Given the description of an element on the screen output the (x, y) to click on. 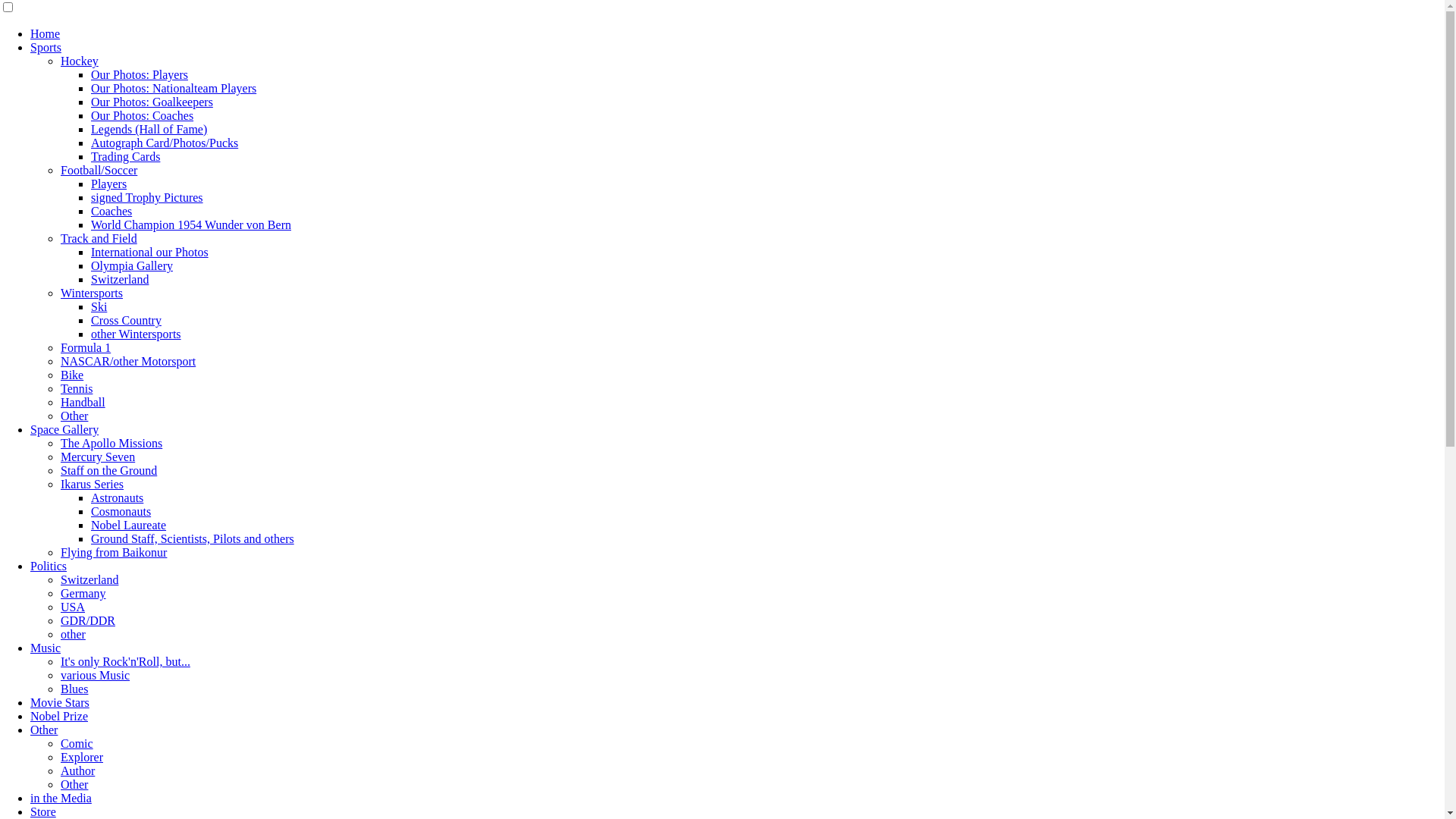
Players Element type: text (108, 183)
Handball Element type: text (82, 401)
Wintersports Element type: text (91, 292)
USA Element type: text (72, 606)
other Wintersports Element type: text (136, 333)
Movie Stars Element type: text (59, 702)
Store Element type: text (43, 811)
Track and Field Element type: text (98, 238)
Legends (Hall of Fame) Element type: text (149, 128)
Other Element type: text (43, 729)
NASCAR/other Motorsport Element type: text (127, 360)
Author Element type: text (77, 770)
Ski Element type: text (98, 306)
Cosmonauts Element type: text (120, 511)
Nobel Laureate Element type: text (128, 524)
Music Element type: text (45, 647)
Ikarus Series Element type: text (91, 483)
It's only Rock'n'Roll, but... Element type: text (125, 661)
International our Photos Element type: text (149, 251)
Autograph Card/Photos/Pucks Element type: text (164, 142)
Our Photos: Players Element type: text (139, 74)
Sports Element type: text (45, 46)
Astronauts Element type: text (117, 497)
Football/Soccer Element type: text (98, 169)
Switzerland Element type: text (119, 279)
various Music Element type: text (94, 674)
Hockey Element type: text (79, 60)
Politics Element type: text (48, 565)
Formula 1 Element type: text (85, 347)
World Champion 1954 Wunder von Bern Element type: text (191, 224)
Tennis Element type: text (76, 388)
Olympia Gallery Element type: text (131, 265)
Coaches Element type: text (111, 210)
signed Trophy Pictures Element type: text (147, 197)
Flying from Baikonur Element type: text (113, 552)
Other Element type: text (73, 415)
Germany Element type: text (83, 592)
Other Element type: text (73, 784)
GDR/DDR Element type: text (87, 620)
Our Photos: Nationalteam Players Element type: text (173, 87)
The Apollo Missions Element type: text (111, 442)
Ground Staff, Scientists, Pilots and others Element type: text (192, 538)
other Element type: text (72, 633)
Nobel Prize Element type: text (58, 715)
Blues Element type: text (73, 688)
in the Media Element type: text (60, 797)
Cross Country Element type: text (126, 319)
Home Element type: text (44, 33)
Space Gallery Element type: text (64, 429)
Our Photos: Coaches Element type: text (142, 115)
Bike Element type: text (71, 374)
Switzerland Element type: text (89, 579)
Explorer Element type: text (81, 756)
Mercury Seven Element type: text (97, 456)
Staff on the Ground Element type: text (108, 470)
Trading Cards Element type: text (125, 156)
Comic Element type: text (76, 743)
Our Photos: Goalkeepers Element type: text (152, 101)
